Given the description of an element on the screen output the (x, y) to click on. 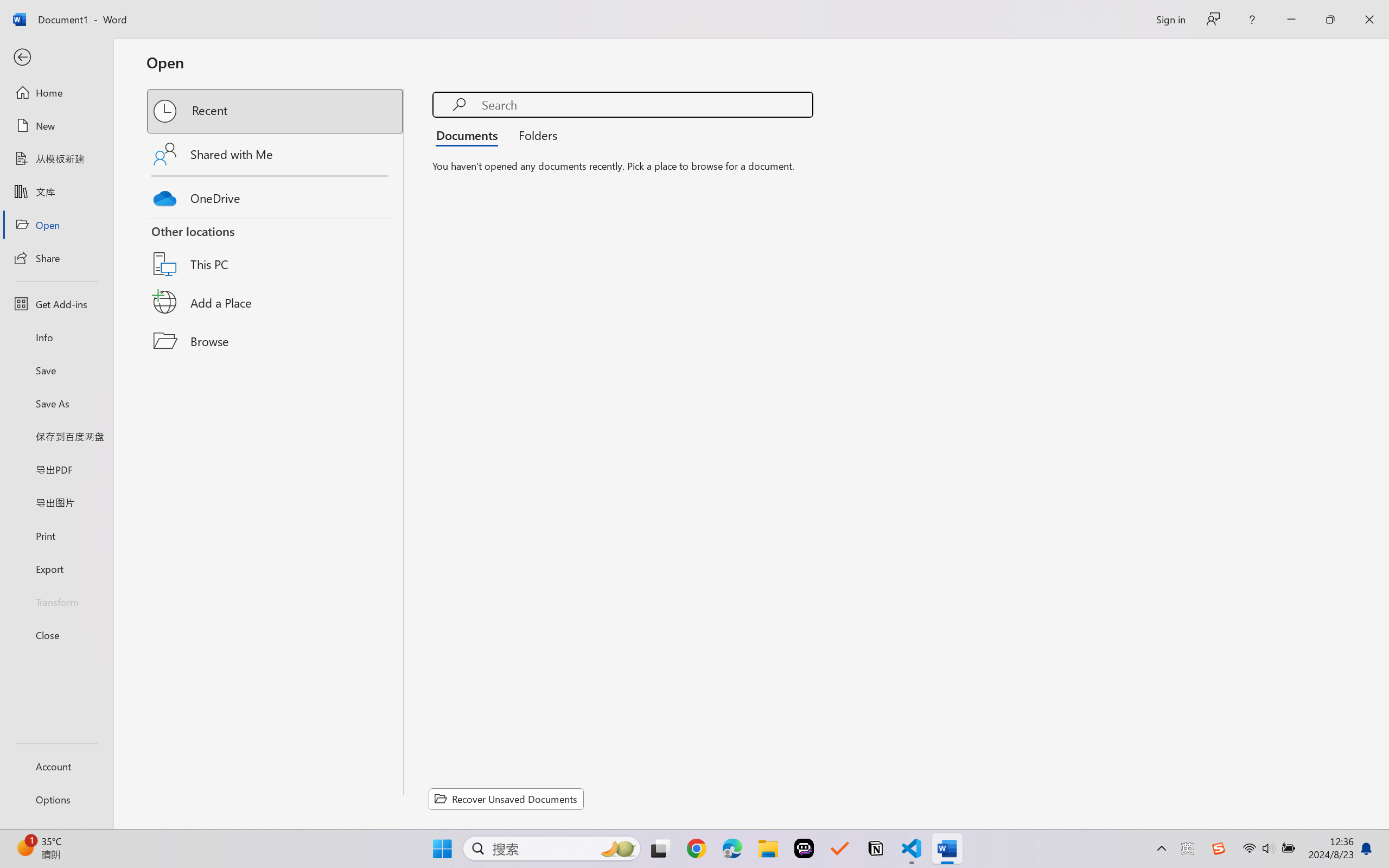
Back (56, 57)
Print (56, 535)
Save As (56, 403)
Info (56, 337)
New (56, 125)
Export (56, 568)
Browse (275, 340)
Recover Unsaved Documents (506, 798)
